Given the description of an element on the screen output the (x, y) to click on. 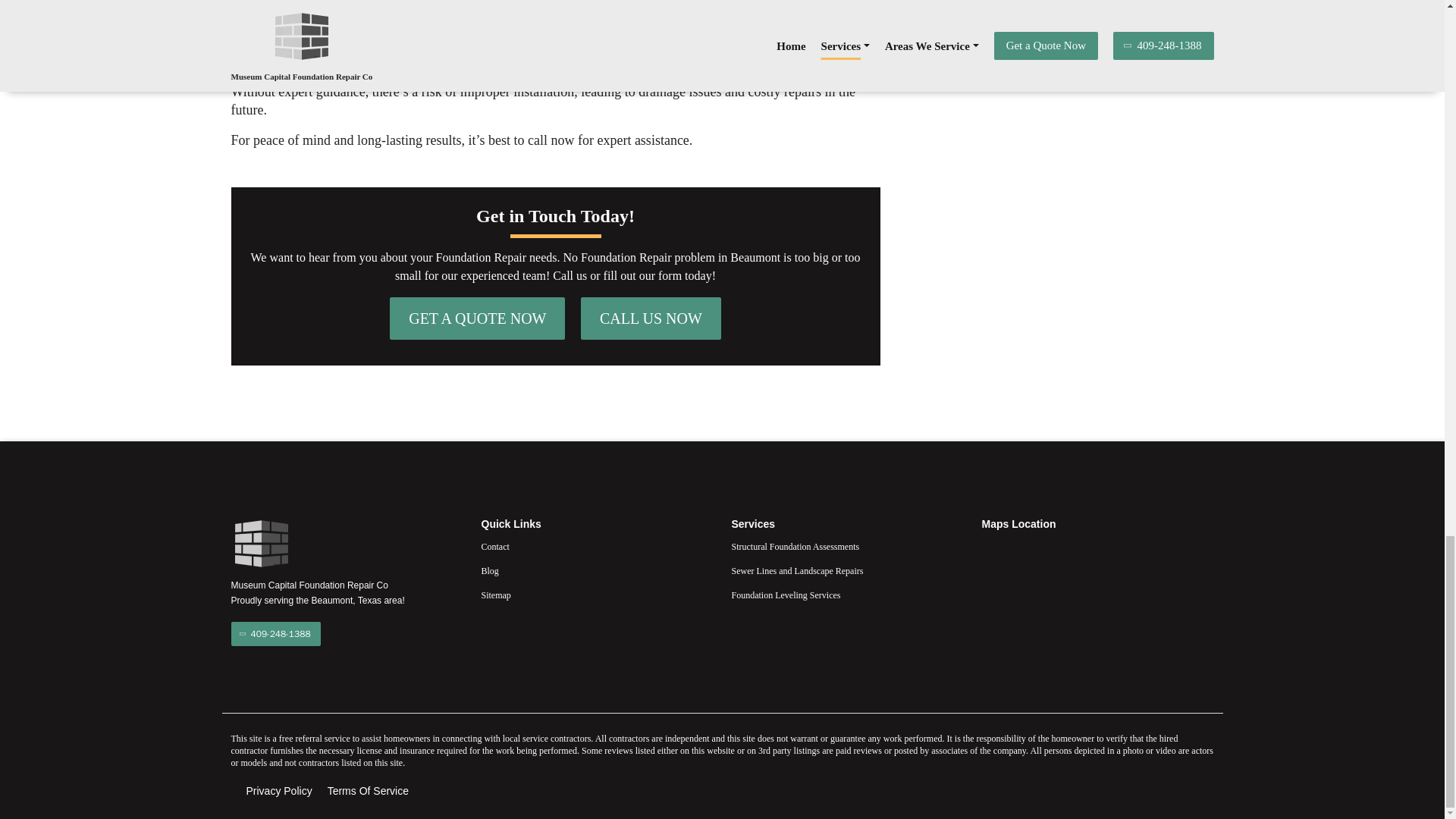
CALL US NOW (650, 318)
409-248-1388 (275, 633)
GET A QUOTE NOW (477, 318)
